Given the description of an element on the screen output the (x, y) to click on. 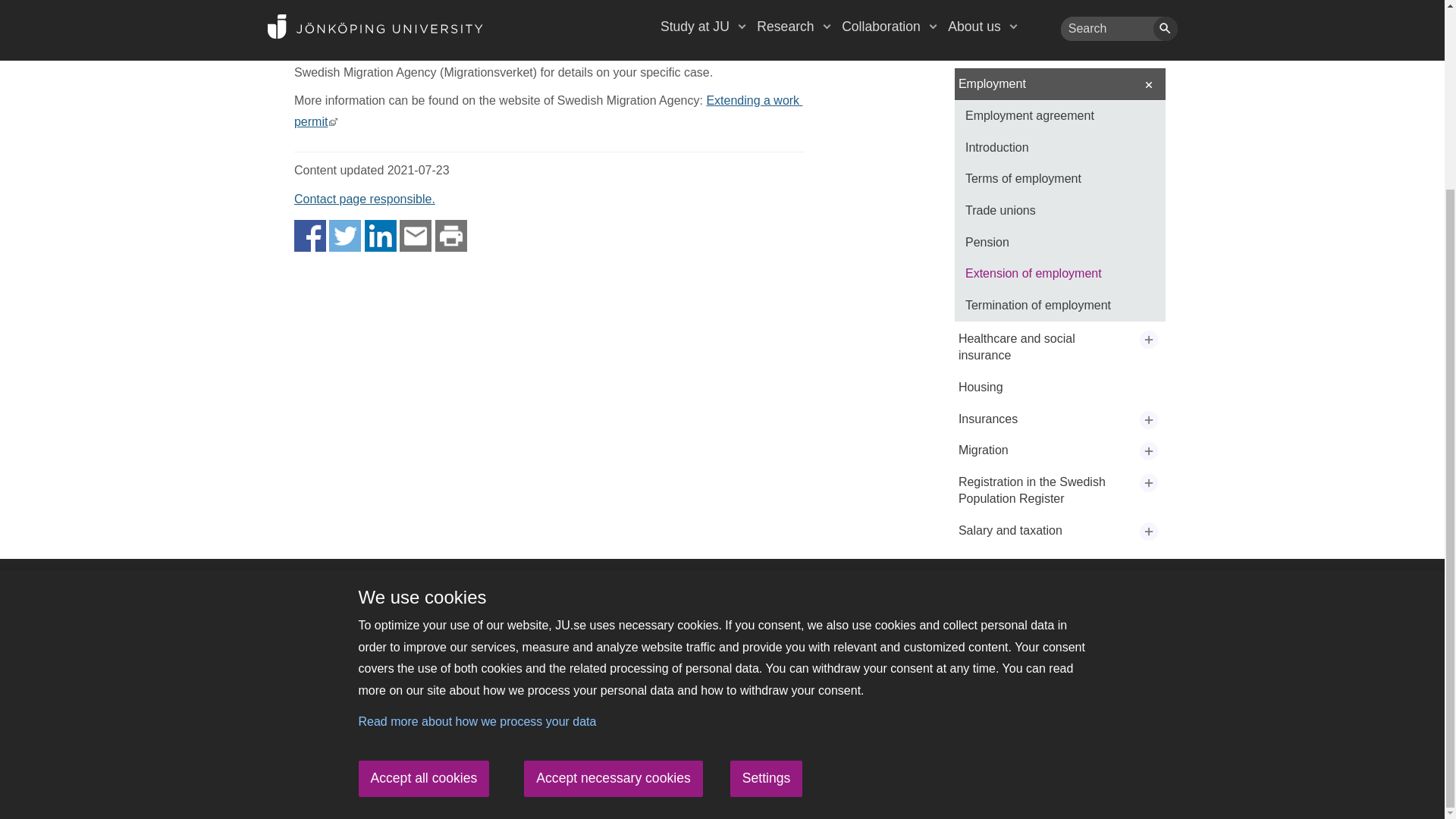
Accept all cookies (423, 542)
Accept necessary cookies (612, 542)
Read more about how we process your data (476, 484)
Settings (766, 542)
